Given the description of an element on the screen output the (x, y) to click on. 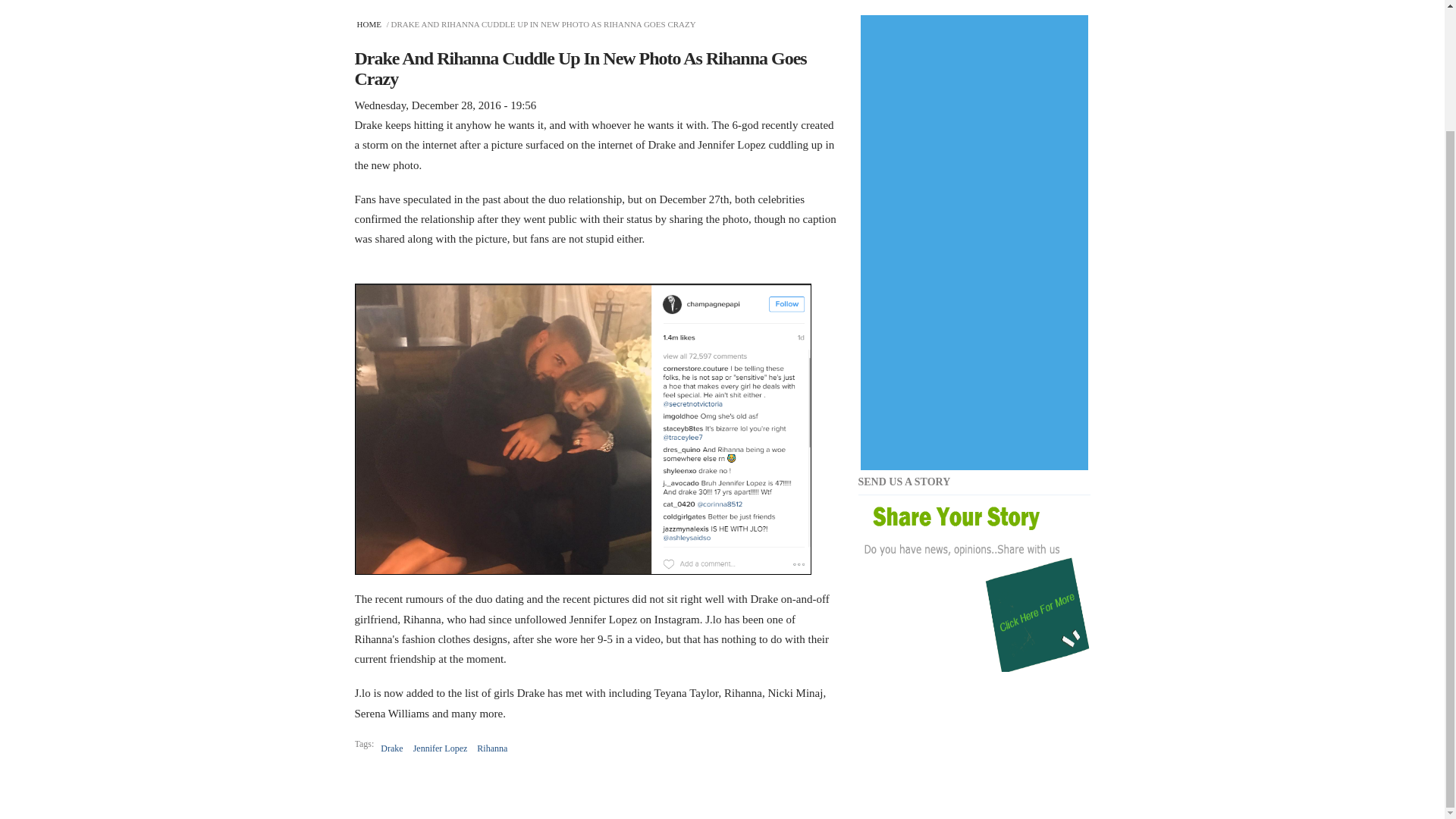
Jennifer Lopez (440, 748)
Rihanna (491, 748)
Drake (391, 748)
HOME (370, 23)
